Given the description of an element on the screen output the (x, y) to click on. 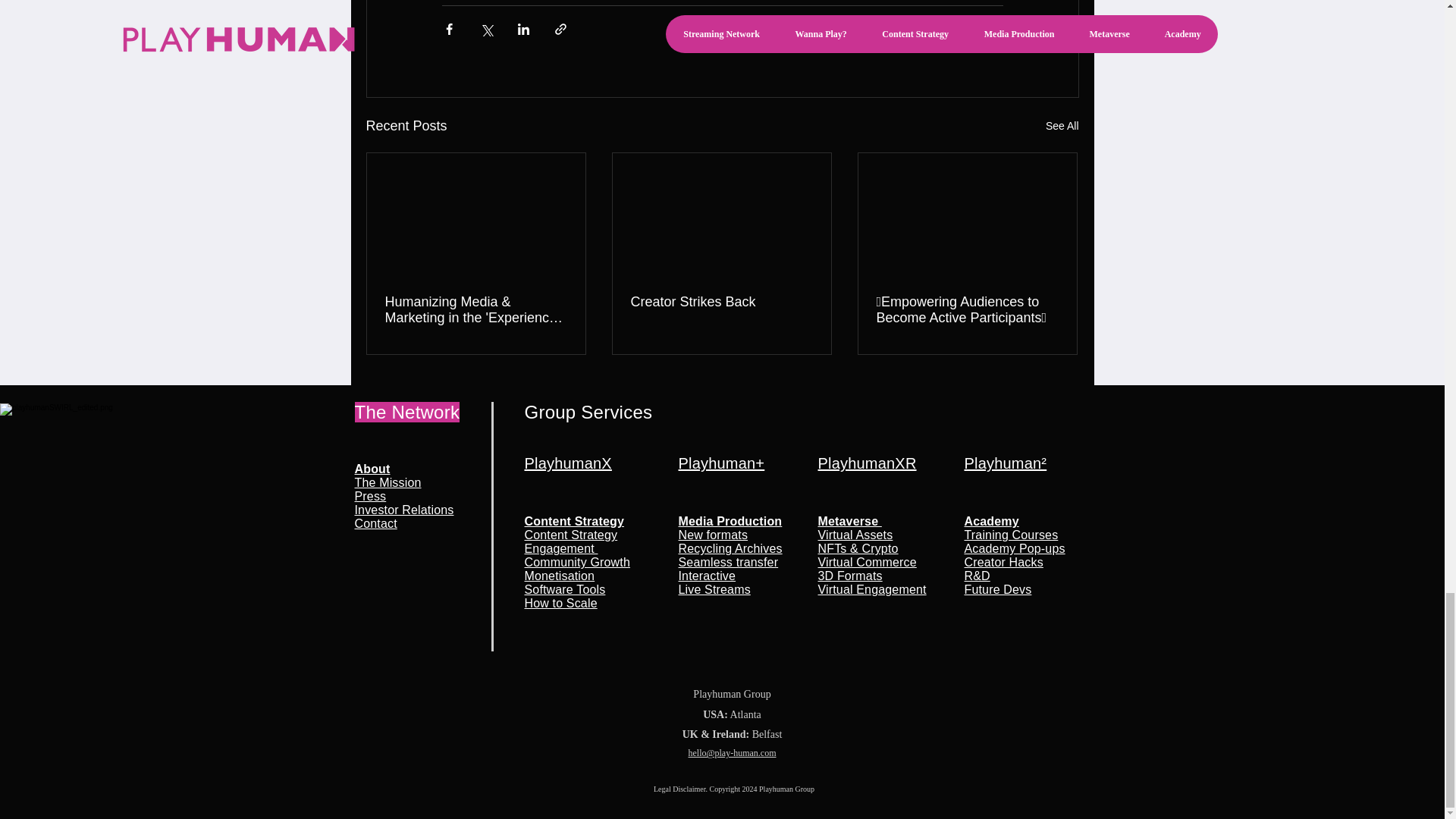
PlayhumanX (567, 463)
Creator Strikes Back (721, 302)
See All (1061, 126)
PlayhumanXR (404, 495)
